Given the description of an element on the screen output the (x, y) to click on. 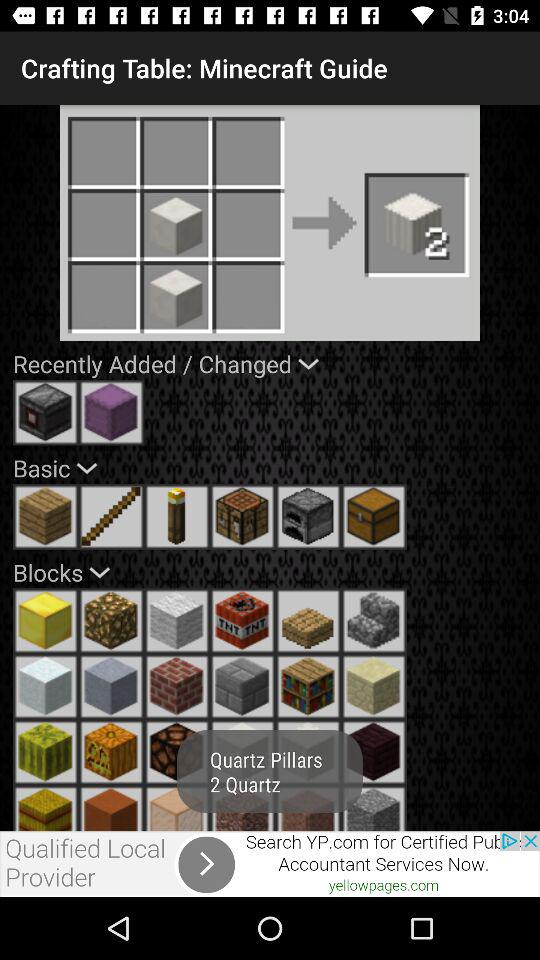
puzzles (177, 808)
